Given the description of an element on the screen output the (x, y) to click on. 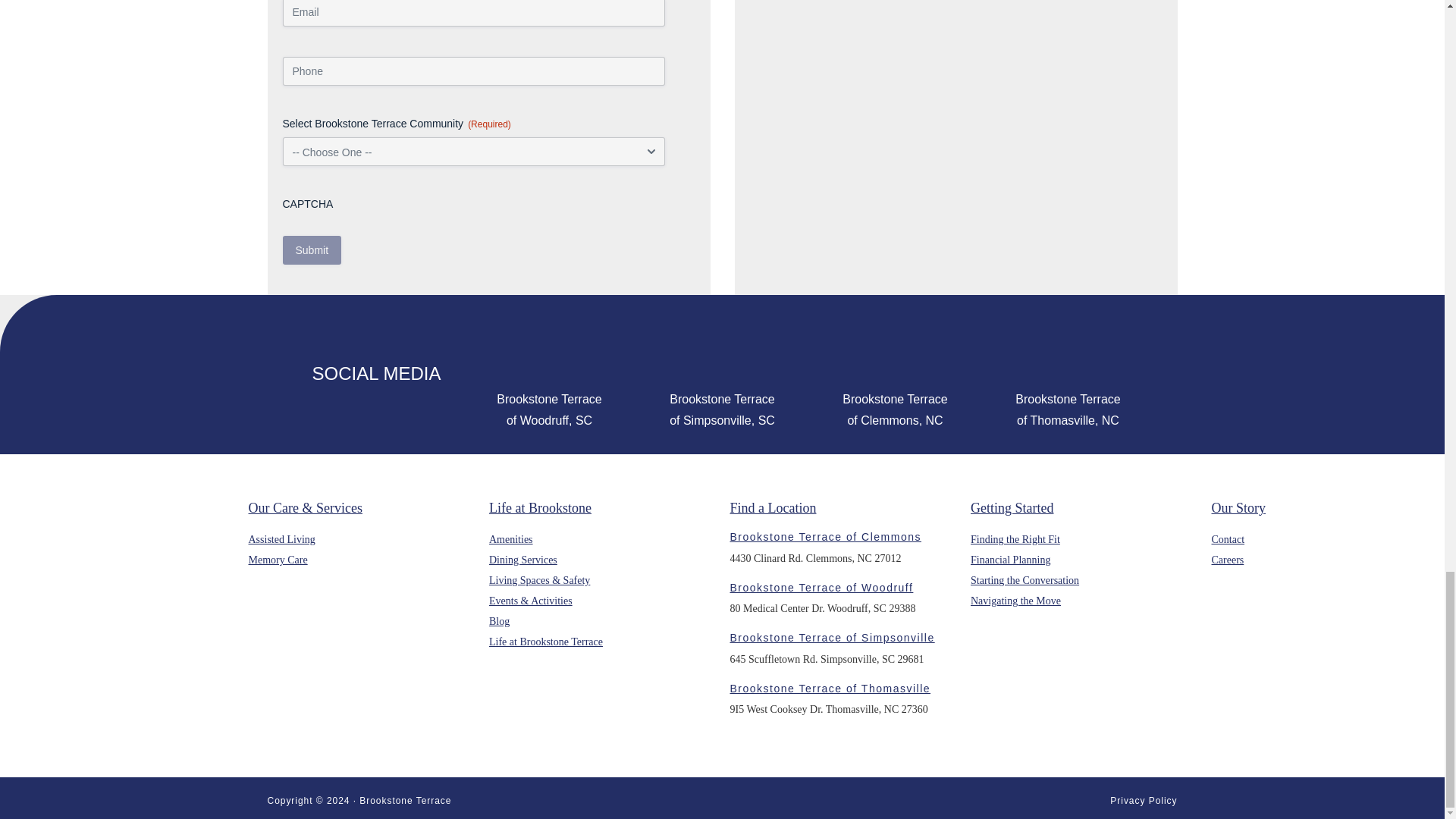
Submit (311, 249)
